Given the description of an element on the screen output the (x, y) to click on. 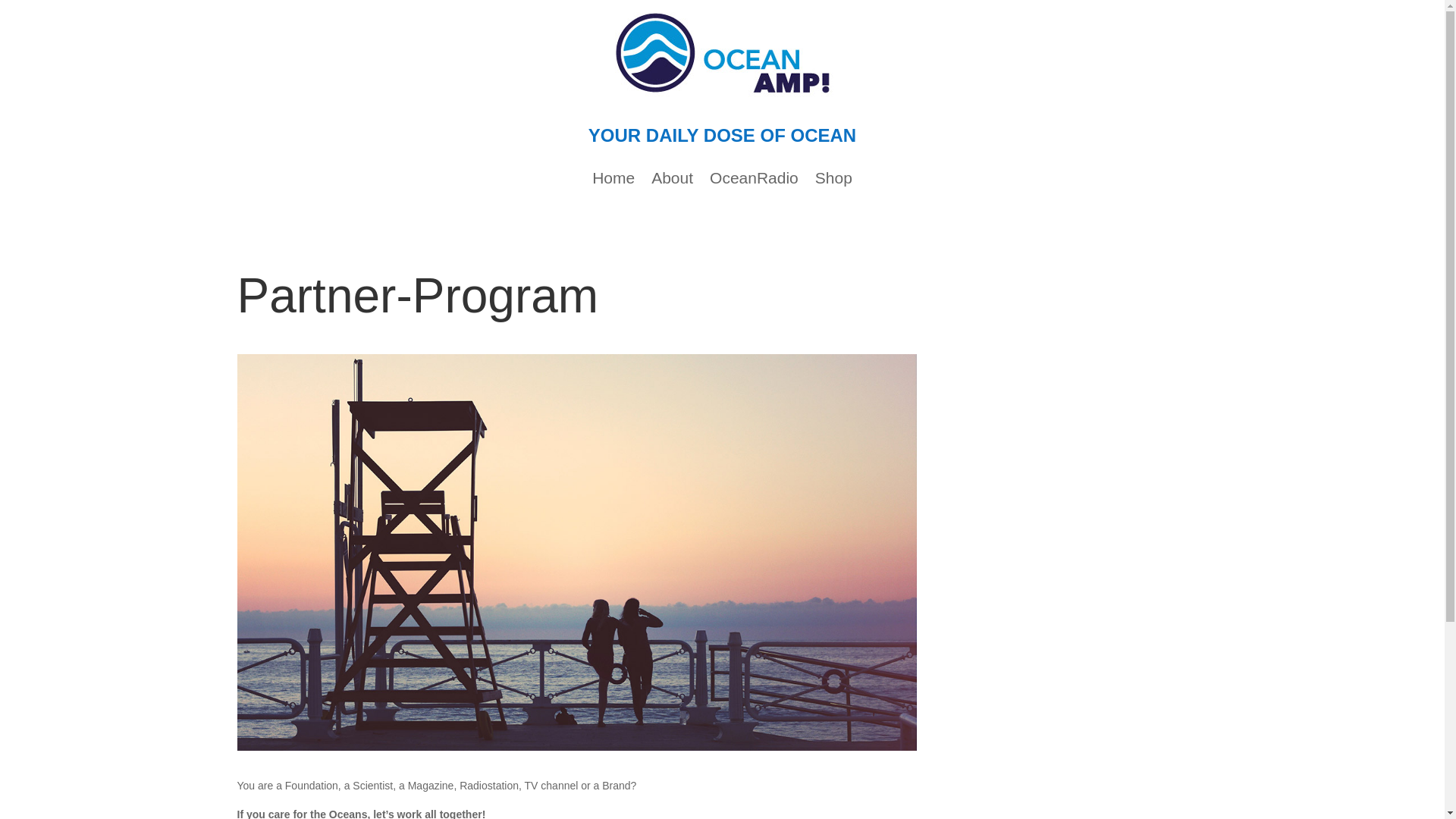
OceanRadio (753, 180)
Shop (833, 180)
Home (613, 180)
About (671, 180)
